Given the description of an element on the screen output the (x, y) to click on. 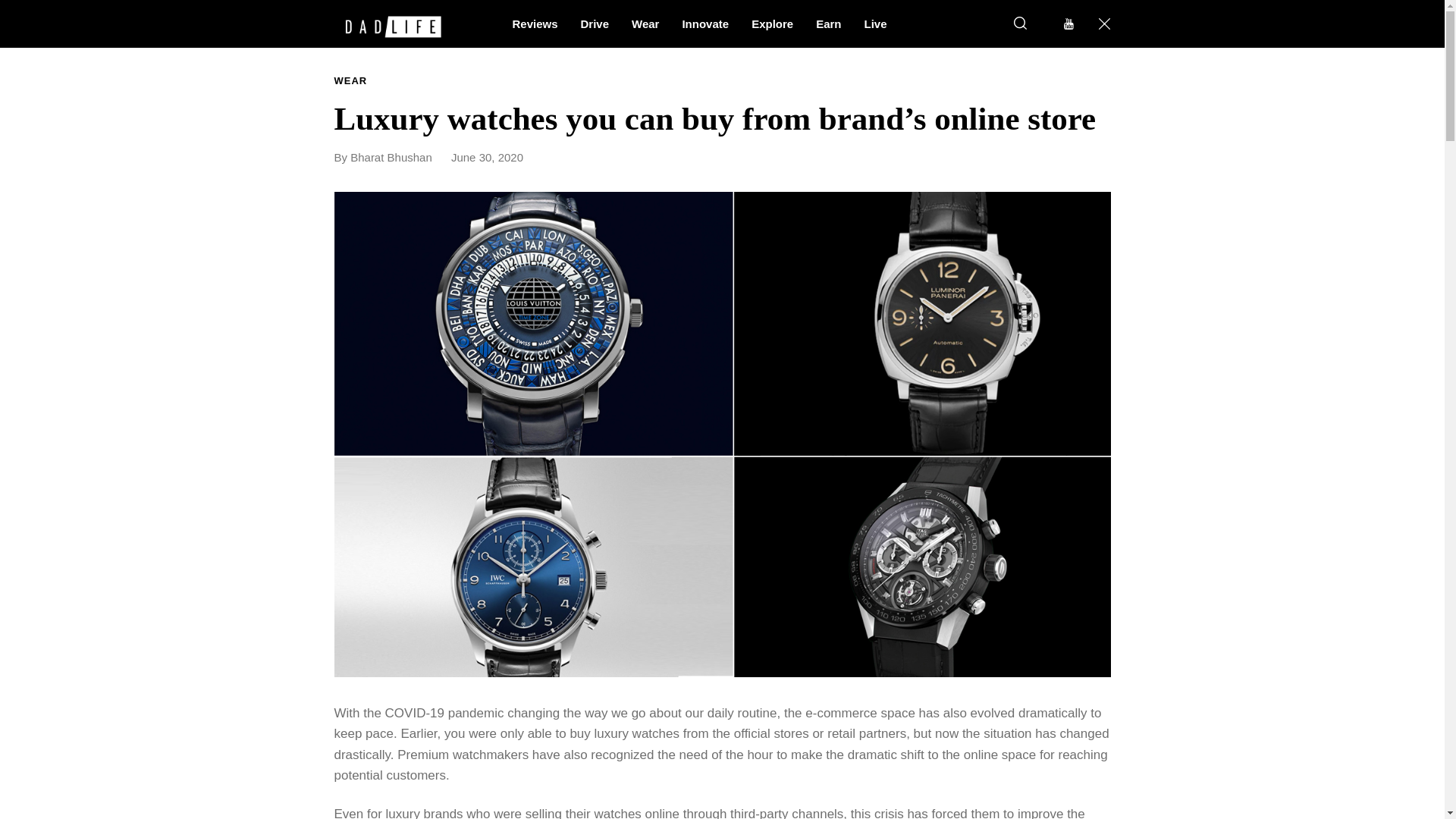
Reviews (534, 22)
Explore (772, 22)
By Bharat Bhushan (389, 156)
Wear (644, 22)
WEAR (349, 81)
Earn (828, 22)
Drive (594, 22)
Innovate (704, 22)
Live (875, 22)
